Given the description of an element on the screen output the (x, y) to click on. 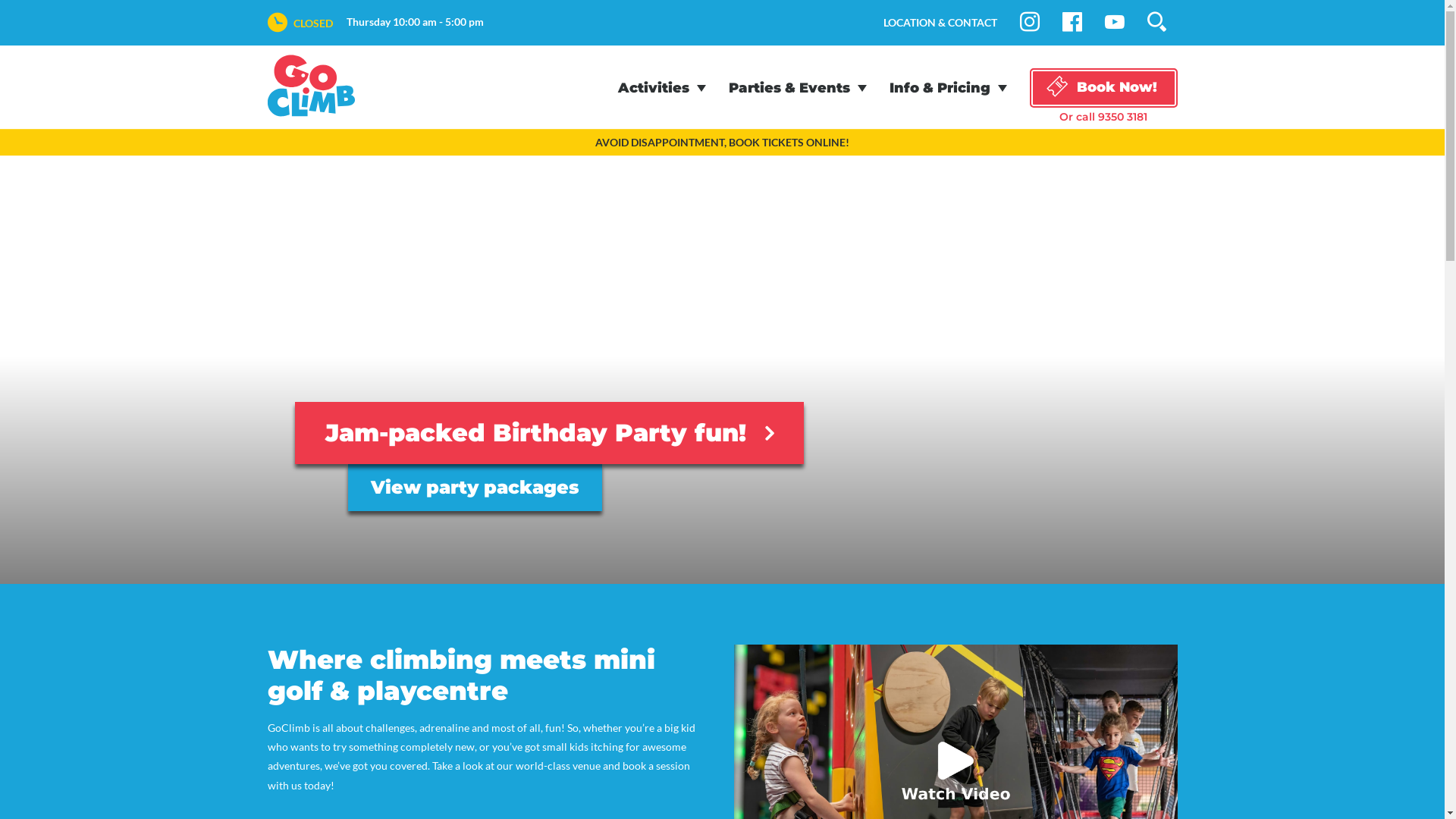
Or call 9350 3181 Element type: text (1103, 116)
Book Now! Element type: text (1103, 87)
Parties & Events Element type: text (797, 88)
LOCATION & CONTACT Element type: text (940, 22)
Activities Element type: text (661, 88)
Info & Pricing Element type: text (947, 88)
